Given the description of an element on the screen output the (x, y) to click on. 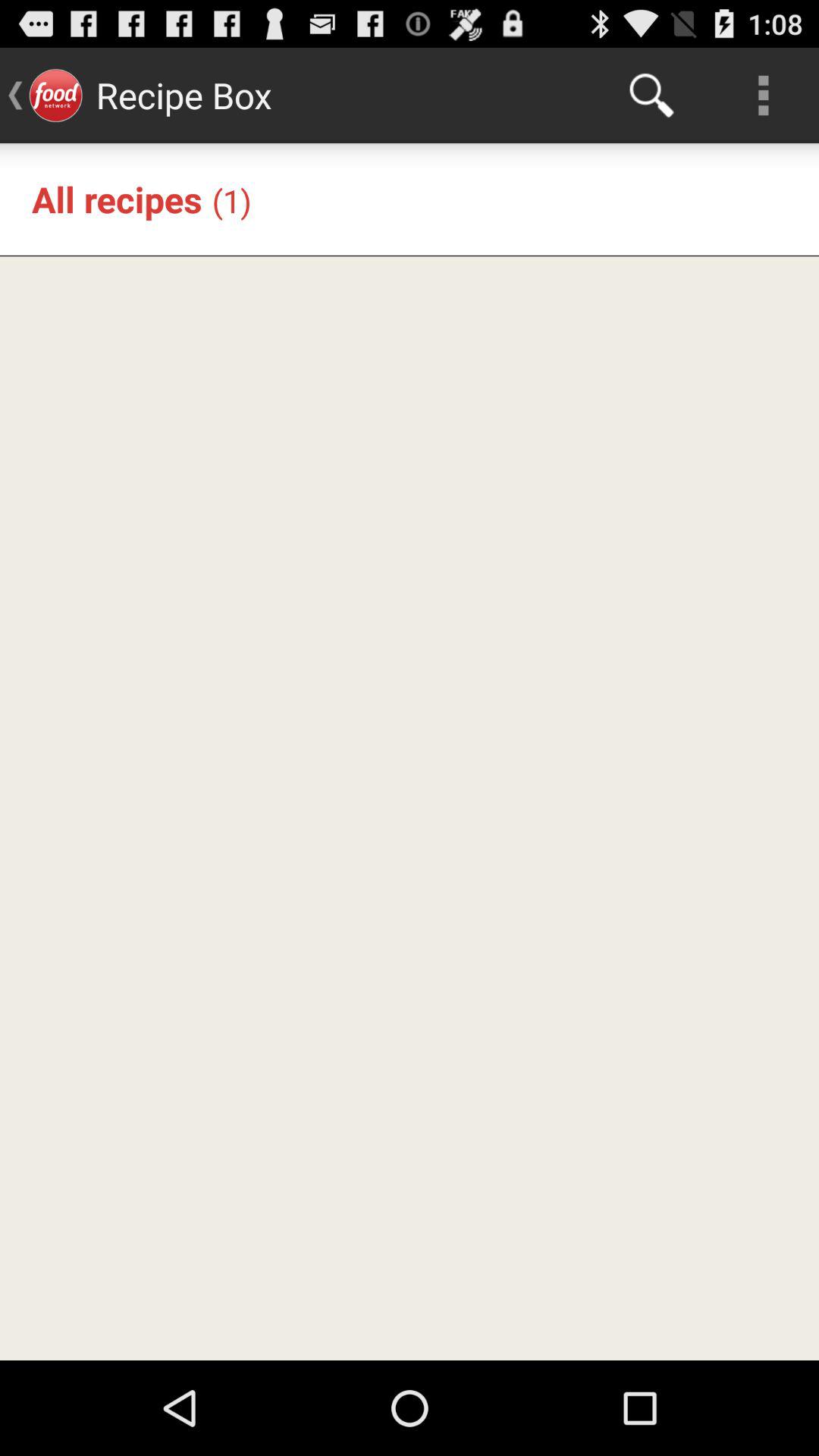
flip to (1) (231, 200)
